Given the description of an element on the screen output the (x, y) to click on. 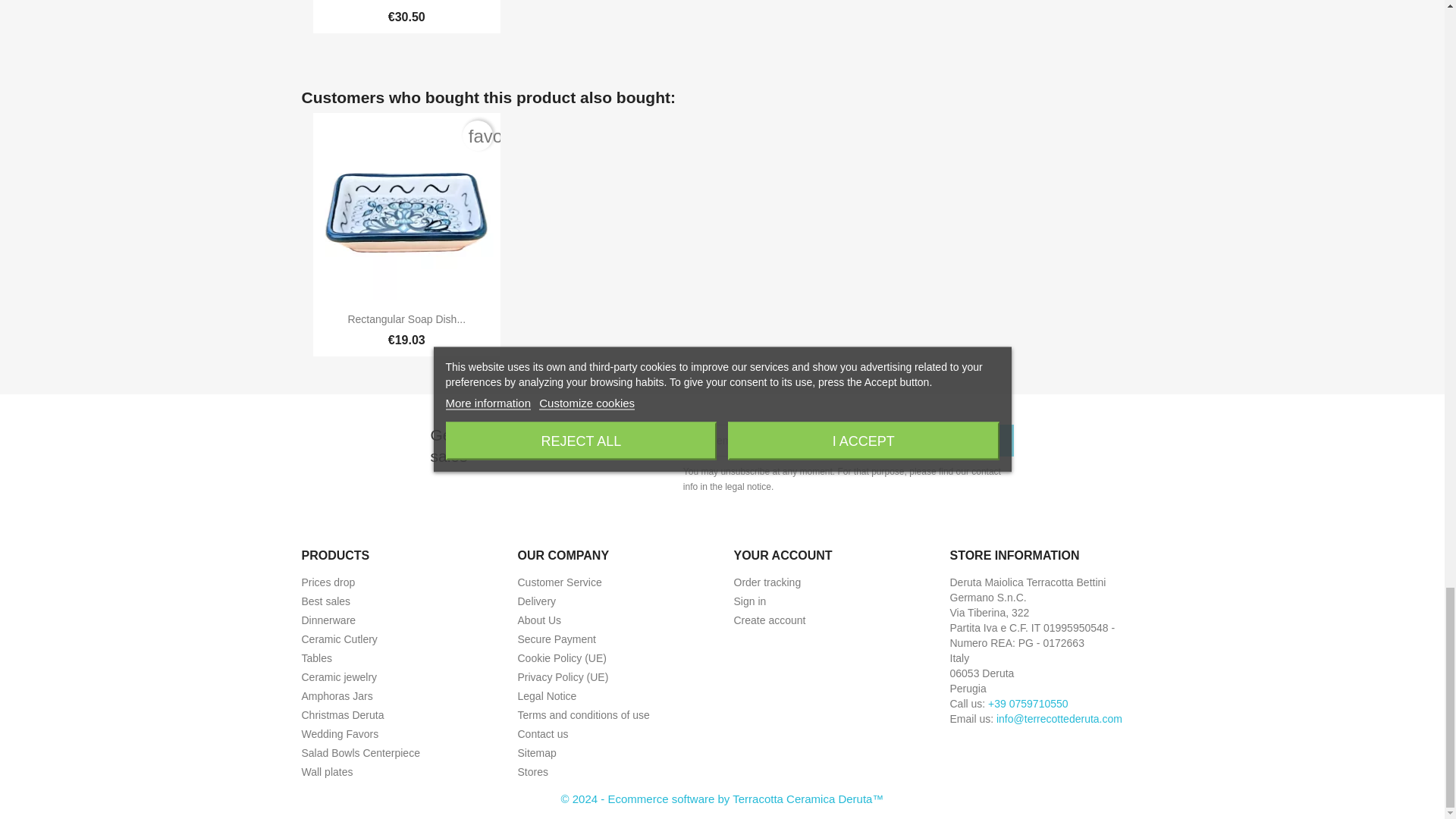
Our best sales (325, 601)
Subscribe (962, 440)
On-sale products Deruta (328, 582)
